Given the description of an element on the screen output the (x, y) to click on. 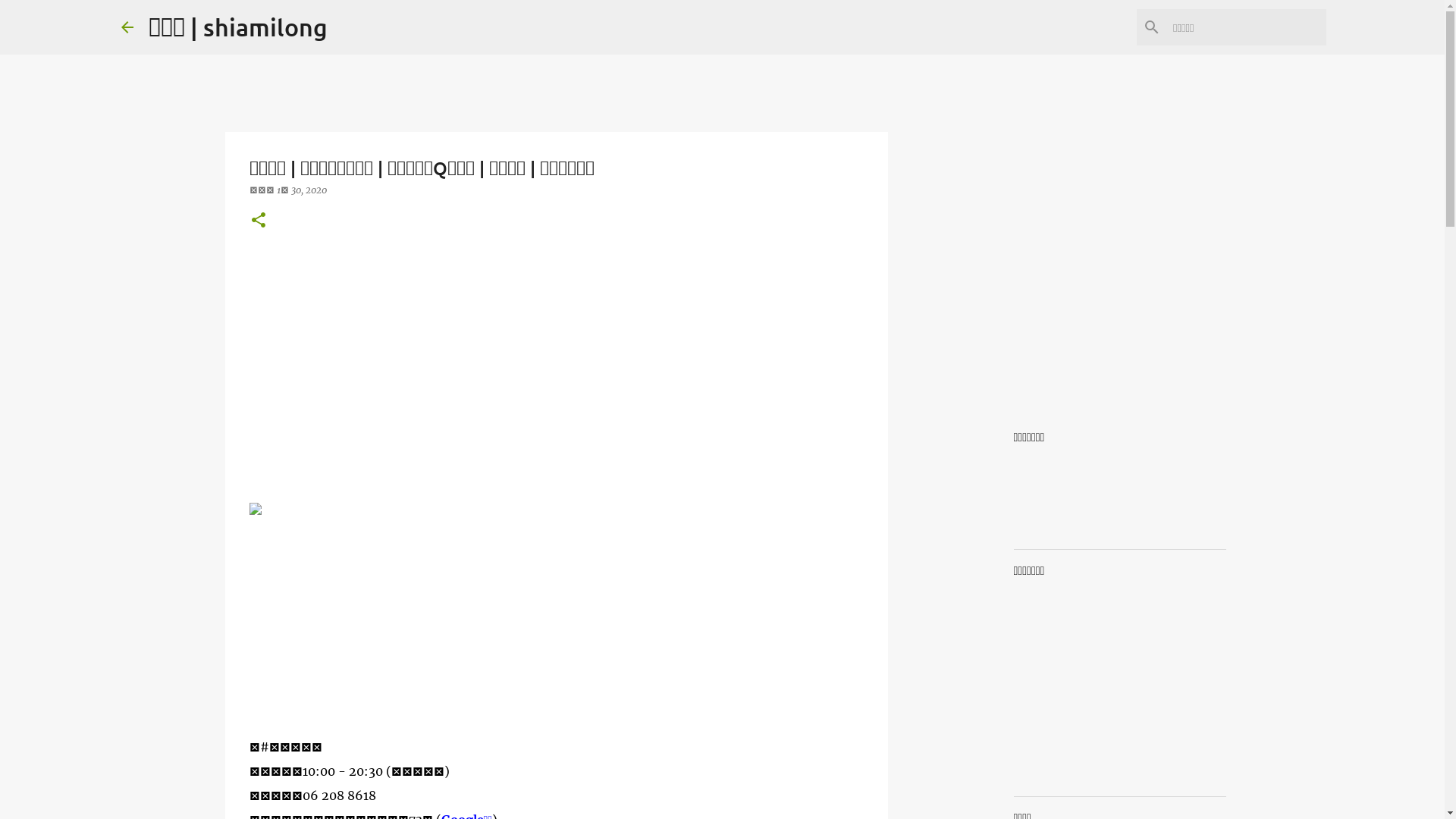
Advertisement Element type: hover (555, 391)
Advertisement Element type: hover (555, 628)
